Given the description of an element on the screen output the (x, y) to click on. 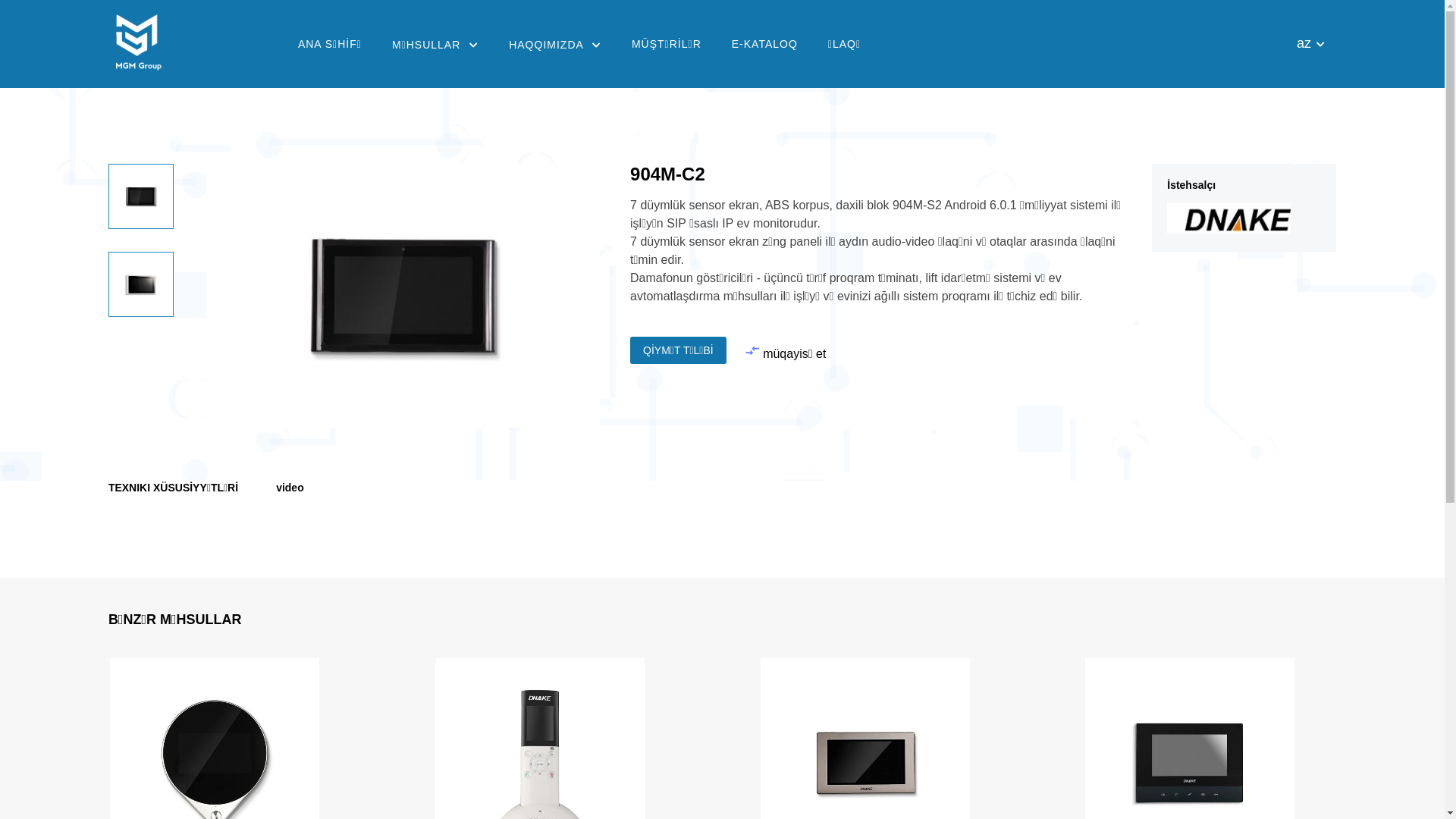
az Element type: text (1310, 50)
HAQQIMIZDA Element type: text (554, 44)
video Element type: text (290, 487)
E-KATALOQ Element type: text (764, 43)
